Given the description of an element on the screen output the (x, y) to click on. 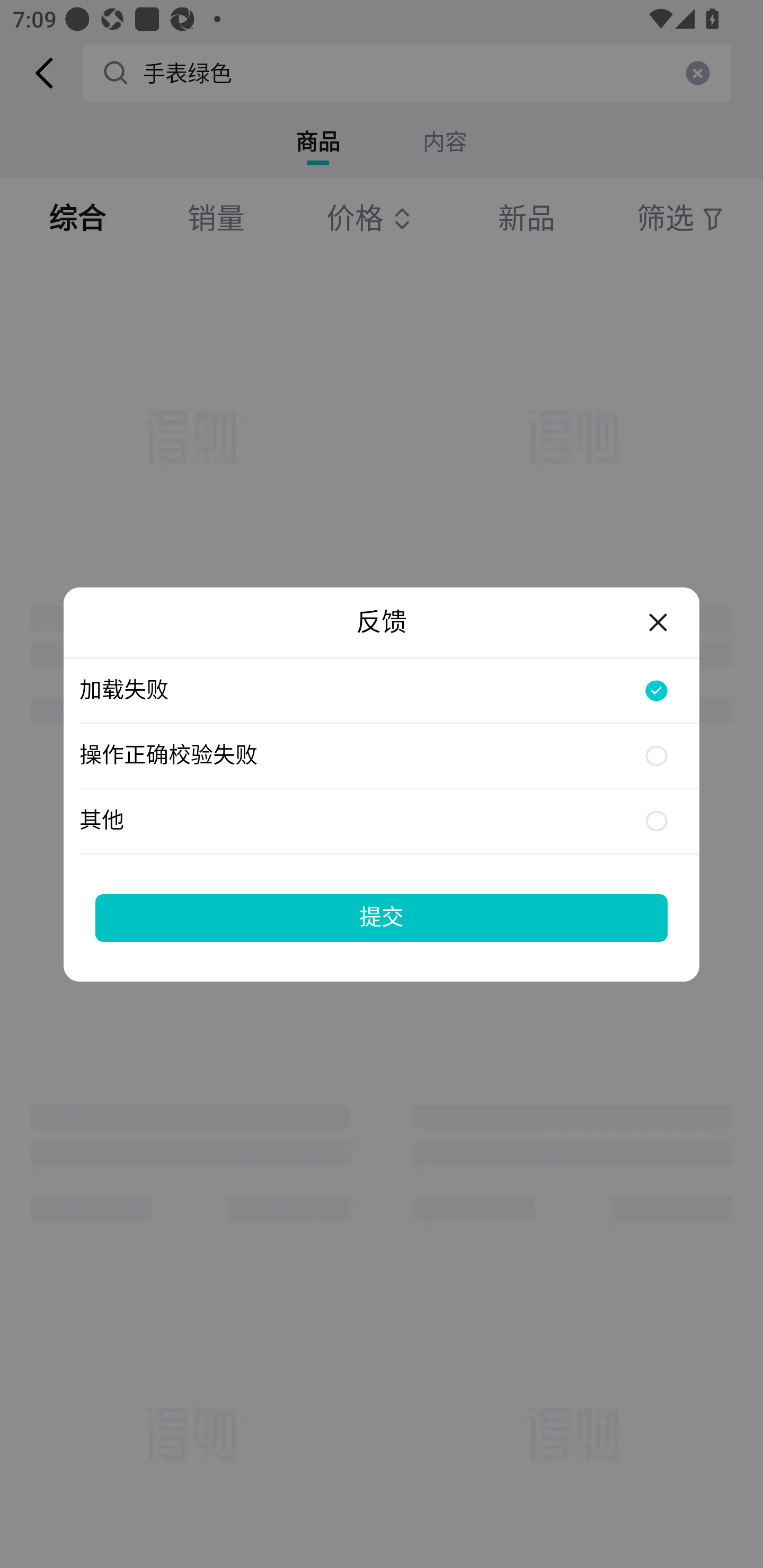
提交 (381, 917)
